Given the description of an element on the screen output the (x, y) to click on. 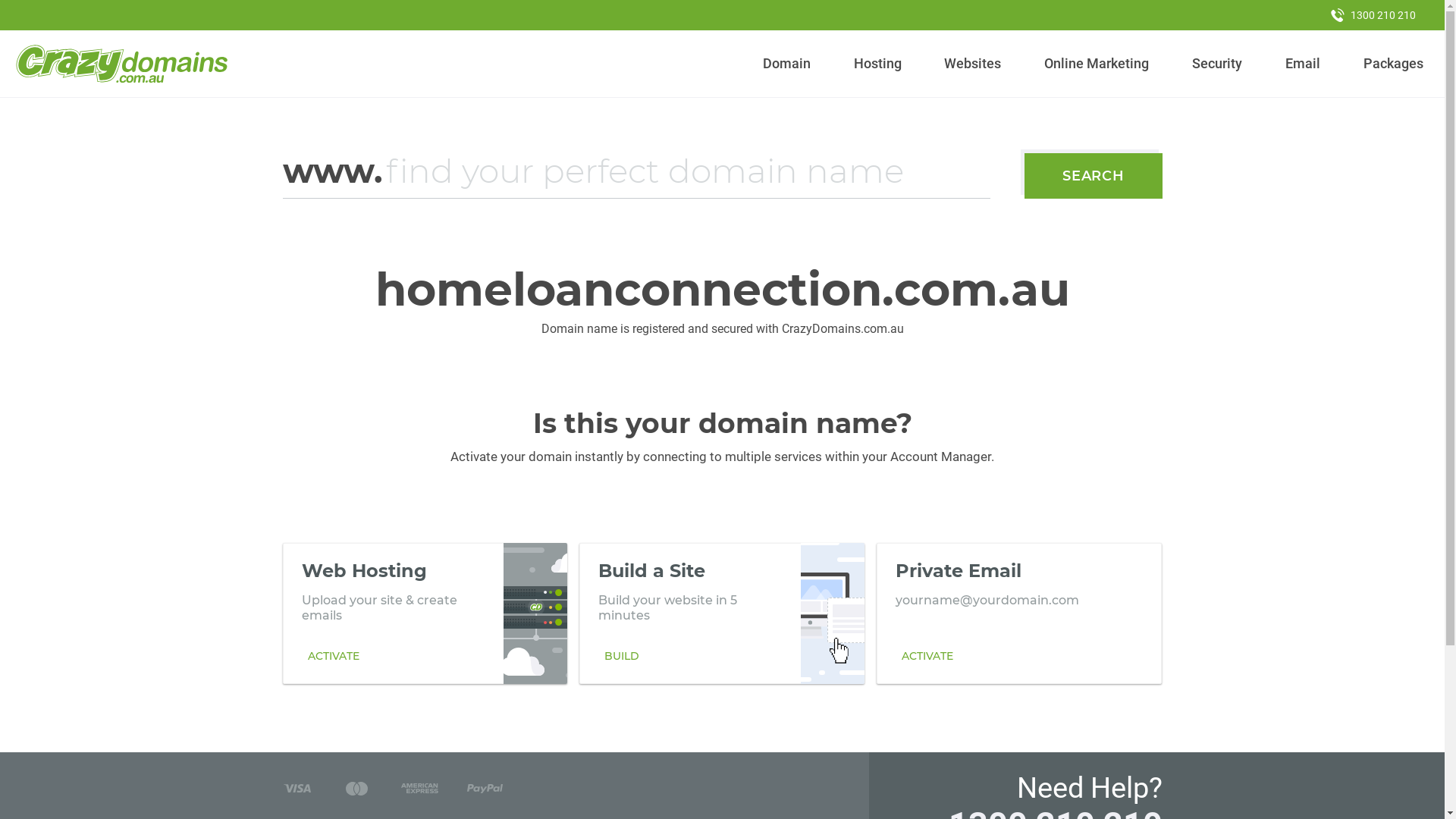
Online Marketing Element type: text (1096, 63)
Websites Element type: text (972, 63)
Private Email
yourname@yourdomain.com
ACTIVATE Element type: text (1018, 613)
Security Element type: text (1217, 63)
Packages Element type: text (1392, 63)
Build a Site
Build your website in 5 minutes
BUILD Element type: text (721, 613)
Web Hosting
Upload your site & create emails
ACTIVATE Element type: text (424, 613)
SEARCH Element type: text (1092, 175)
1300 210 210 Element type: text (1373, 15)
Domain Element type: text (786, 63)
Hosting Element type: text (877, 63)
Email Element type: text (1302, 63)
